Given the description of an element on the screen output the (x, y) to click on. 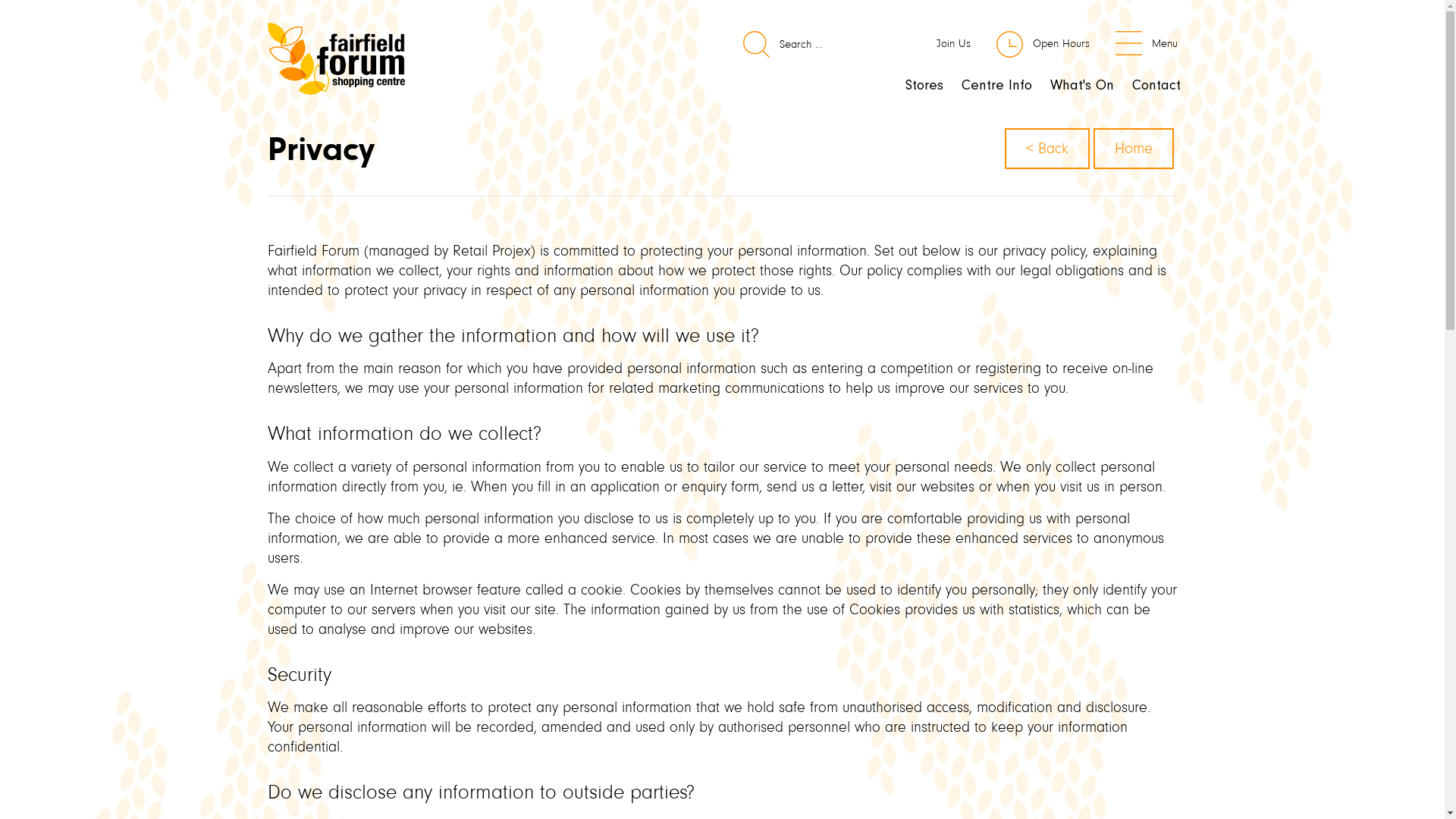
Home Element type: text (1133, 148)
What's On Element type: text (1081, 85)
Join Us Element type: text (933, 43)
Centre Info Element type: text (996, 85)
Stores Element type: text (924, 85)
< Back Element type: text (1046, 148)
Contact Element type: text (1155, 85)
Open Hours Element type: text (1041, 43)
